Given the description of an element on the screen output the (x, y) to click on. 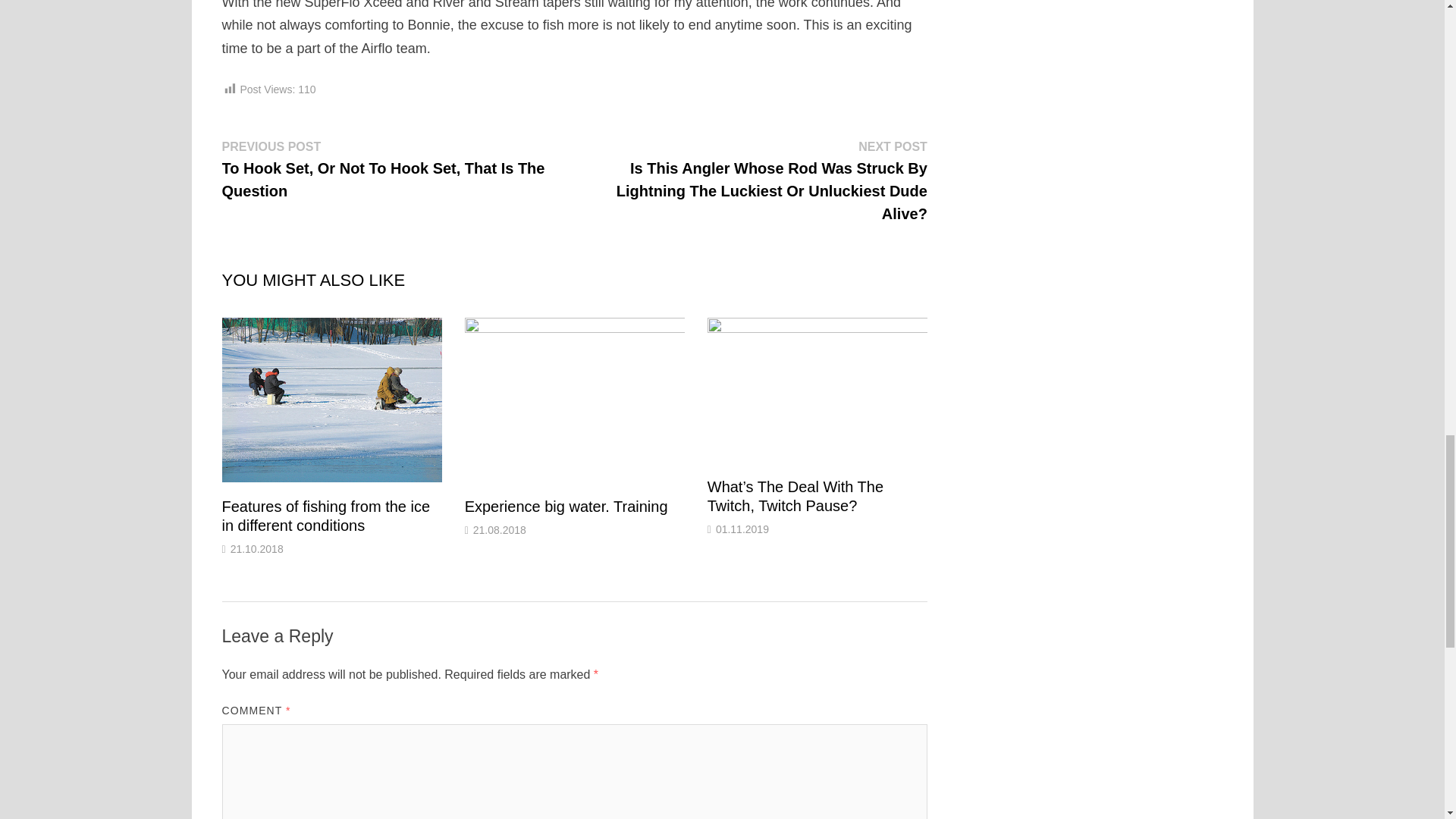
Features of fishing from the ice in different conditions (325, 515)
Experience big water. Training (566, 506)
01.11.2019 (742, 529)
21.10.2018 (256, 548)
21.08.2018 (499, 530)
Experience big water. Training (566, 506)
Features of fishing from the ice in different conditions (325, 515)
